Given the description of an element on the screen output the (x, y) to click on. 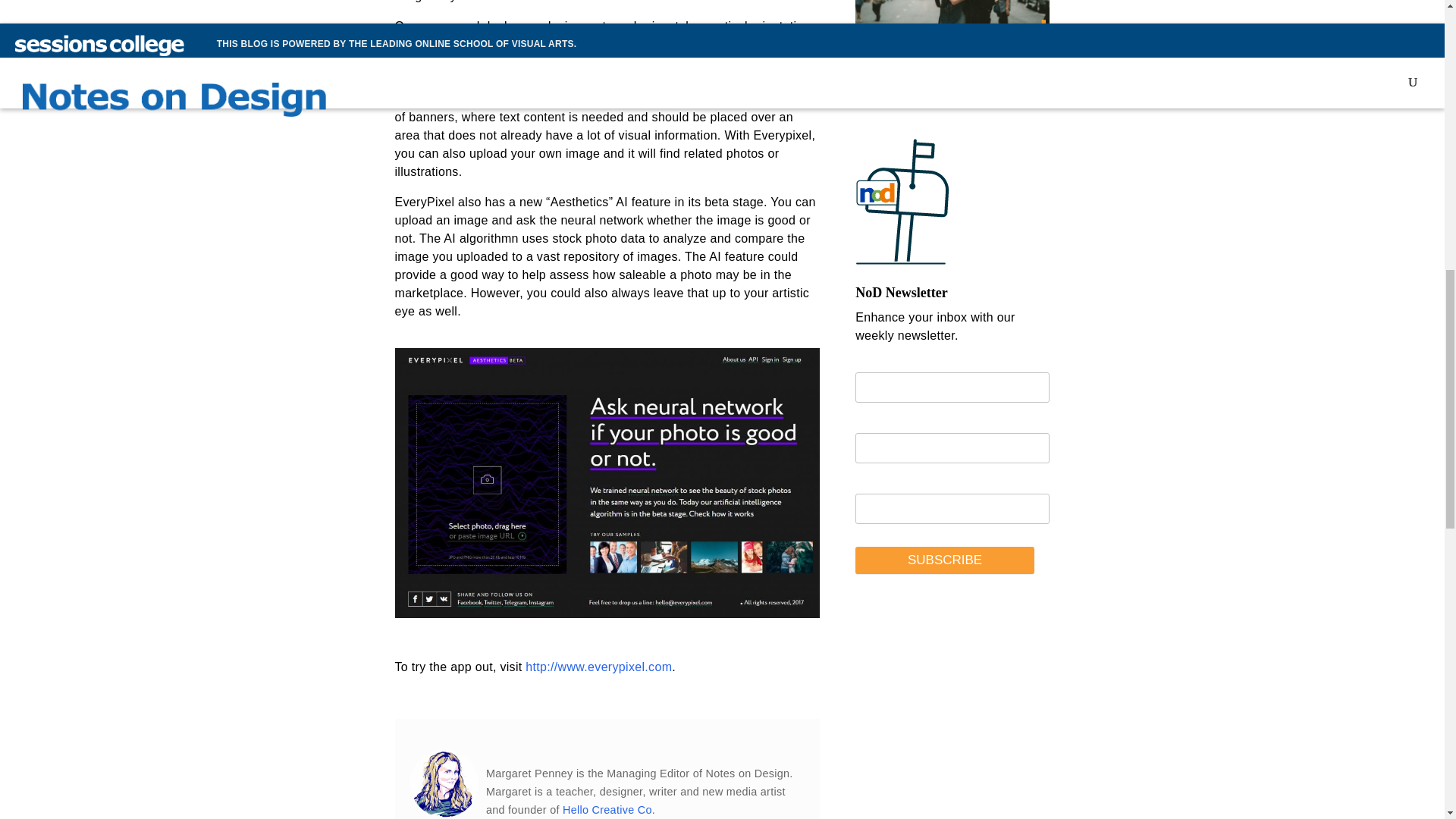
 SUBSCRIBE  (944, 560)
